Given the description of an element on the screen output the (x, y) to click on. 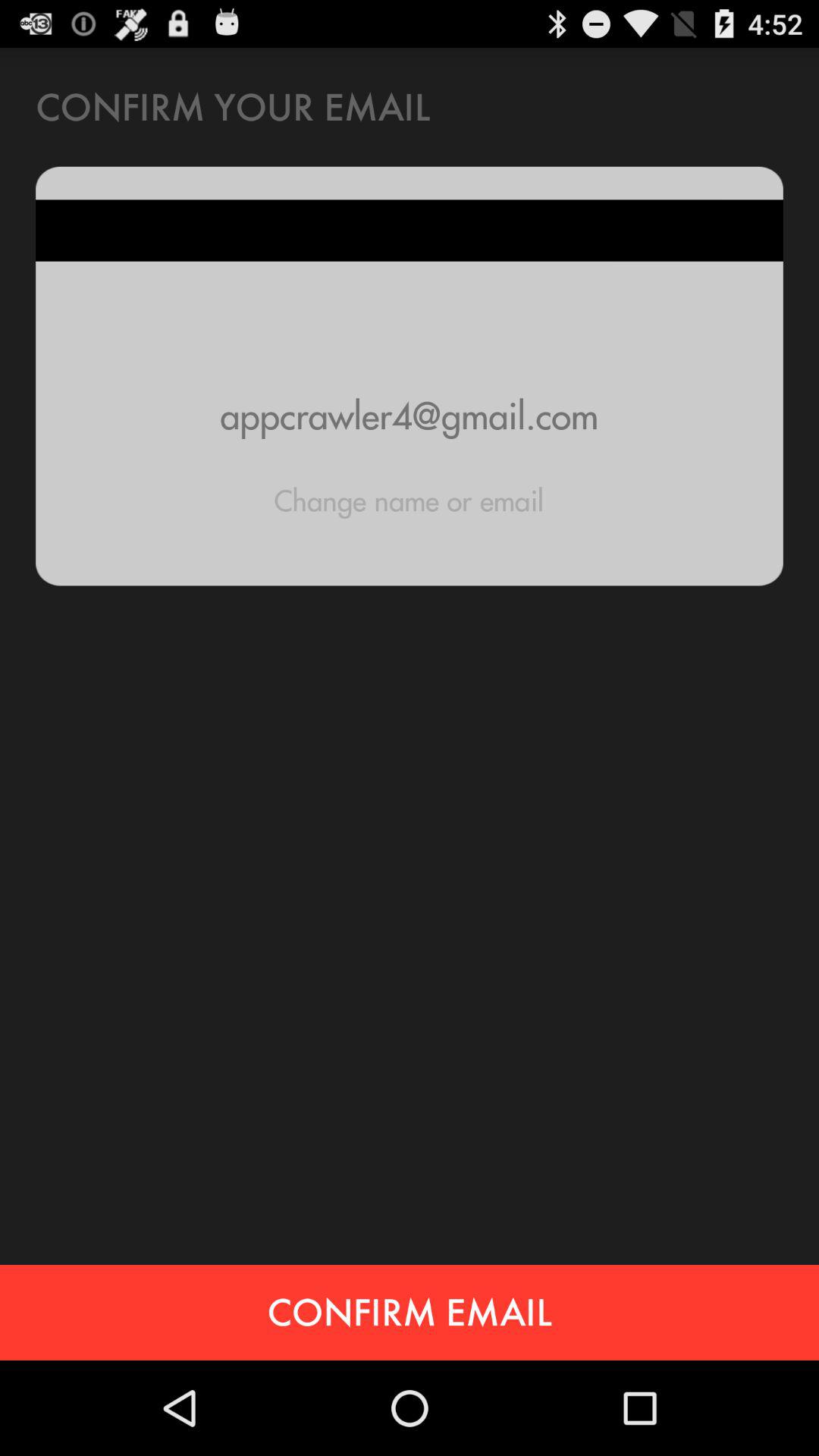
open appcrawler4@gmail.com (409, 415)
